Given the description of an element on the screen output the (x, y) to click on. 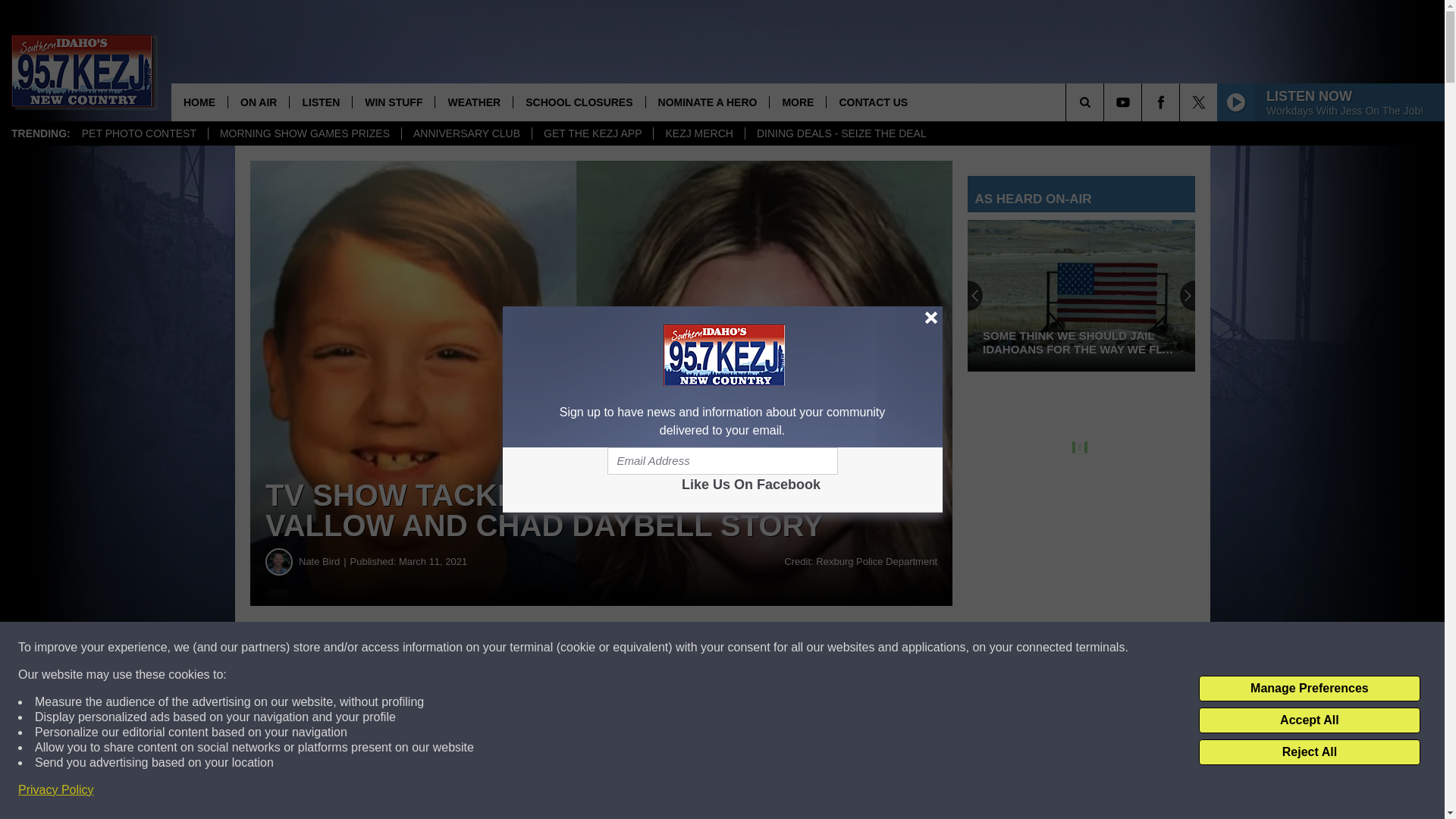
Share on Twitter (741, 647)
Share on Facebook (460, 647)
SEARCH (1106, 102)
Manage Preferences (1309, 688)
SEARCH (1106, 102)
LISTEN (320, 102)
KEZJ MERCH (698, 133)
ON AIR (257, 102)
SCHOOL CLOSURES (578, 102)
Reject All (1309, 751)
HOME (199, 102)
WEATHER (472, 102)
DINING DEALS - SEIZE THE DEAL (840, 133)
Email Address (722, 461)
Privacy Policy (55, 789)
